Given the description of an element on the screen output the (x, y) to click on. 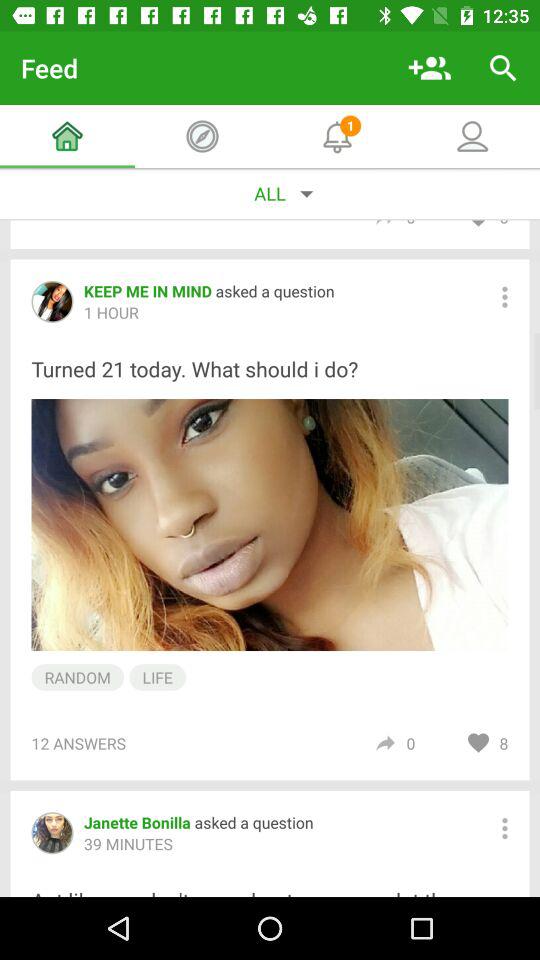
tap icon next to the feed icon (429, 67)
